Given the description of an element on the screen output the (x, y) to click on. 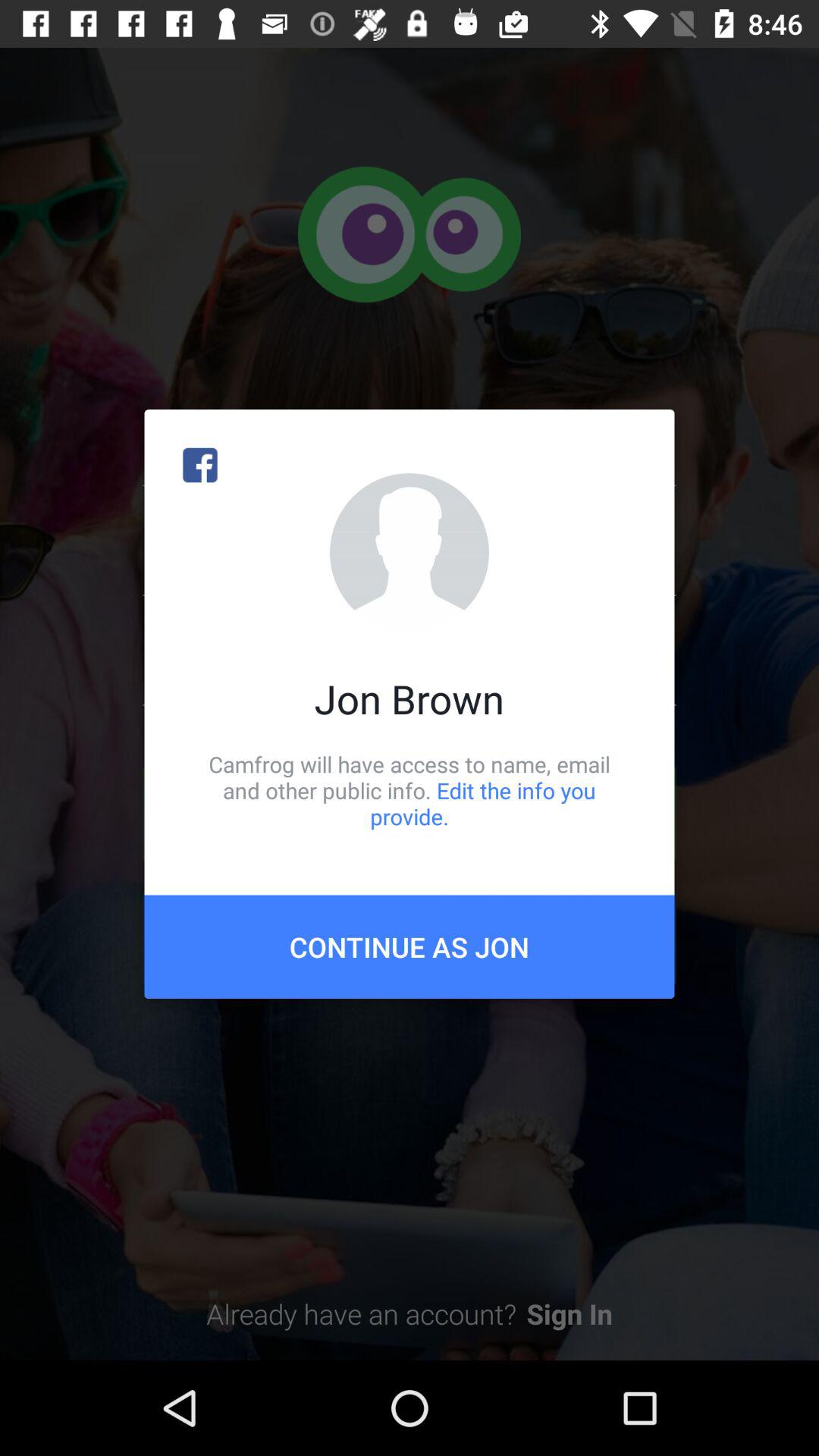
press camfrog will have item (409, 790)
